Given the description of an element on the screen output the (x, y) to click on. 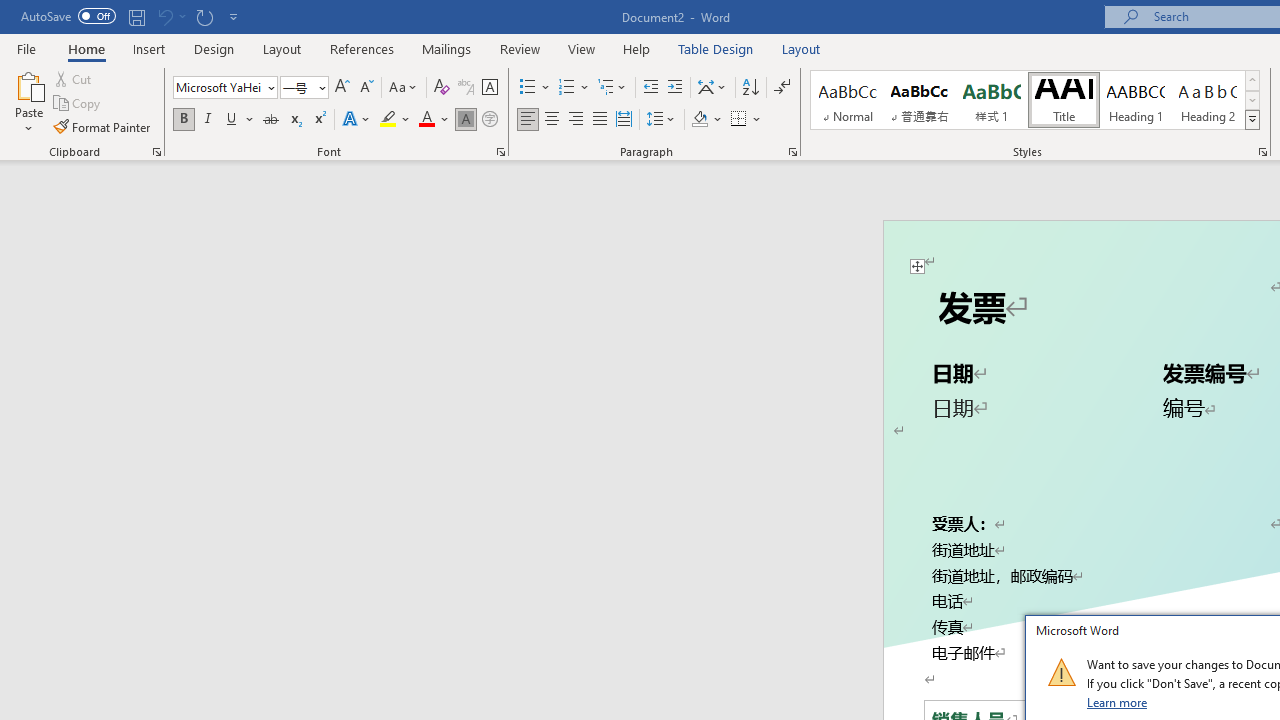
Design (214, 48)
Office Clipboard... (156, 151)
Paste (28, 102)
Paragraph... (792, 151)
Font (224, 87)
Font Size (297, 87)
Font Size (304, 87)
Save (136, 15)
Format Painter (103, 126)
Align Right (575, 119)
AutomationID: QuickStylesGallery (1035, 99)
Strikethrough (270, 119)
System (10, 11)
Heading 1 (1135, 100)
